Given the description of an element on the screen output the (x, y) to click on. 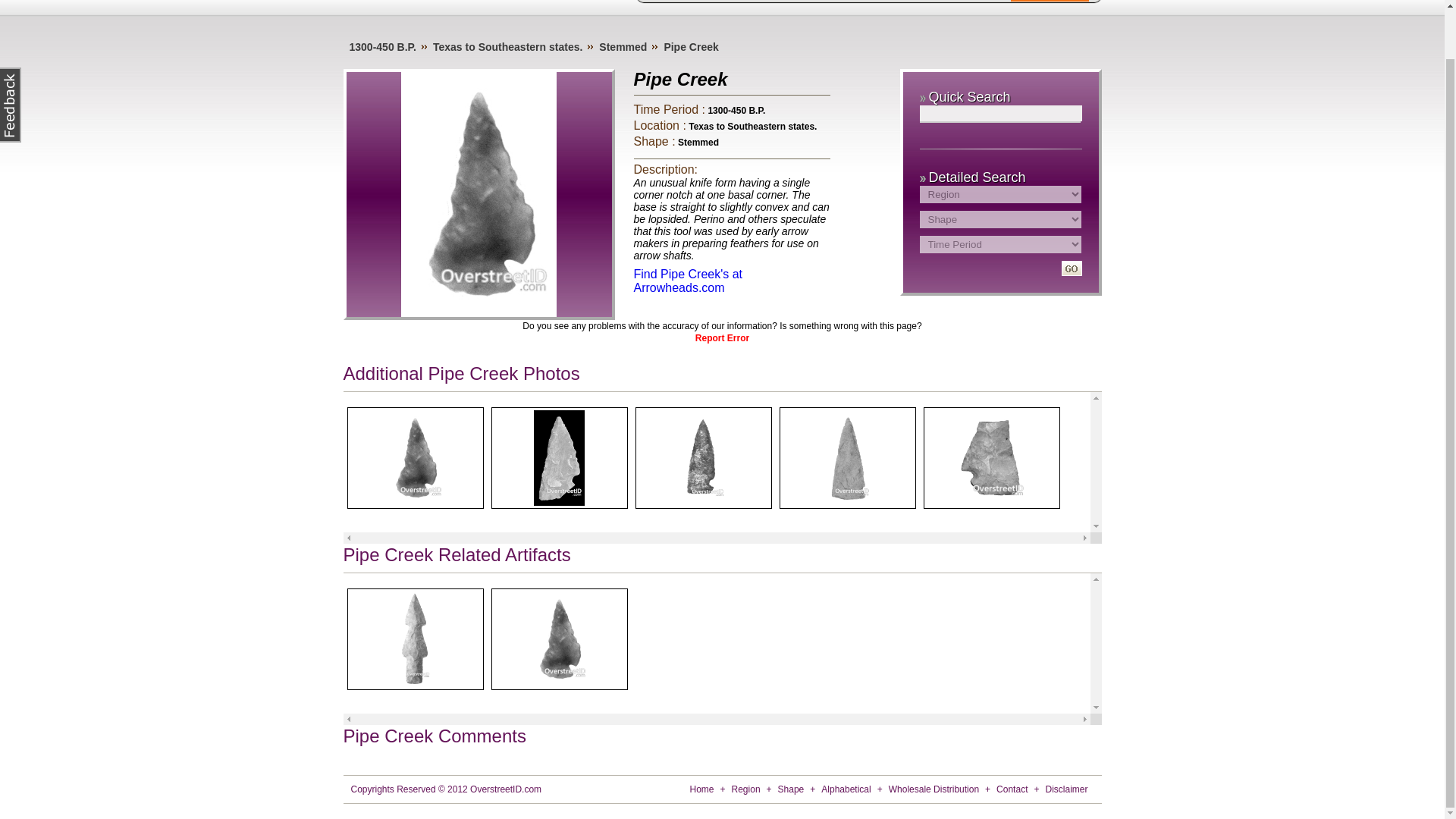
Stemmed (698, 142)
Home (671, 0)
1300-450 B.P. (381, 46)
Pipe Creek (690, 46)
Region (746, 788)
Overstreet (974, 0)
Region (778, 0)
Alphabetical (897, 0)
Alphabetical (845, 788)
Stemmed (622, 46)
Texas to Southeastern states. (752, 126)
Contact (1011, 788)
Wholesale Distribution (933, 788)
Shape (831, 0)
Texas to Southeastern states. (507, 46)
